Given the description of an element on the screen output the (x, y) to click on. 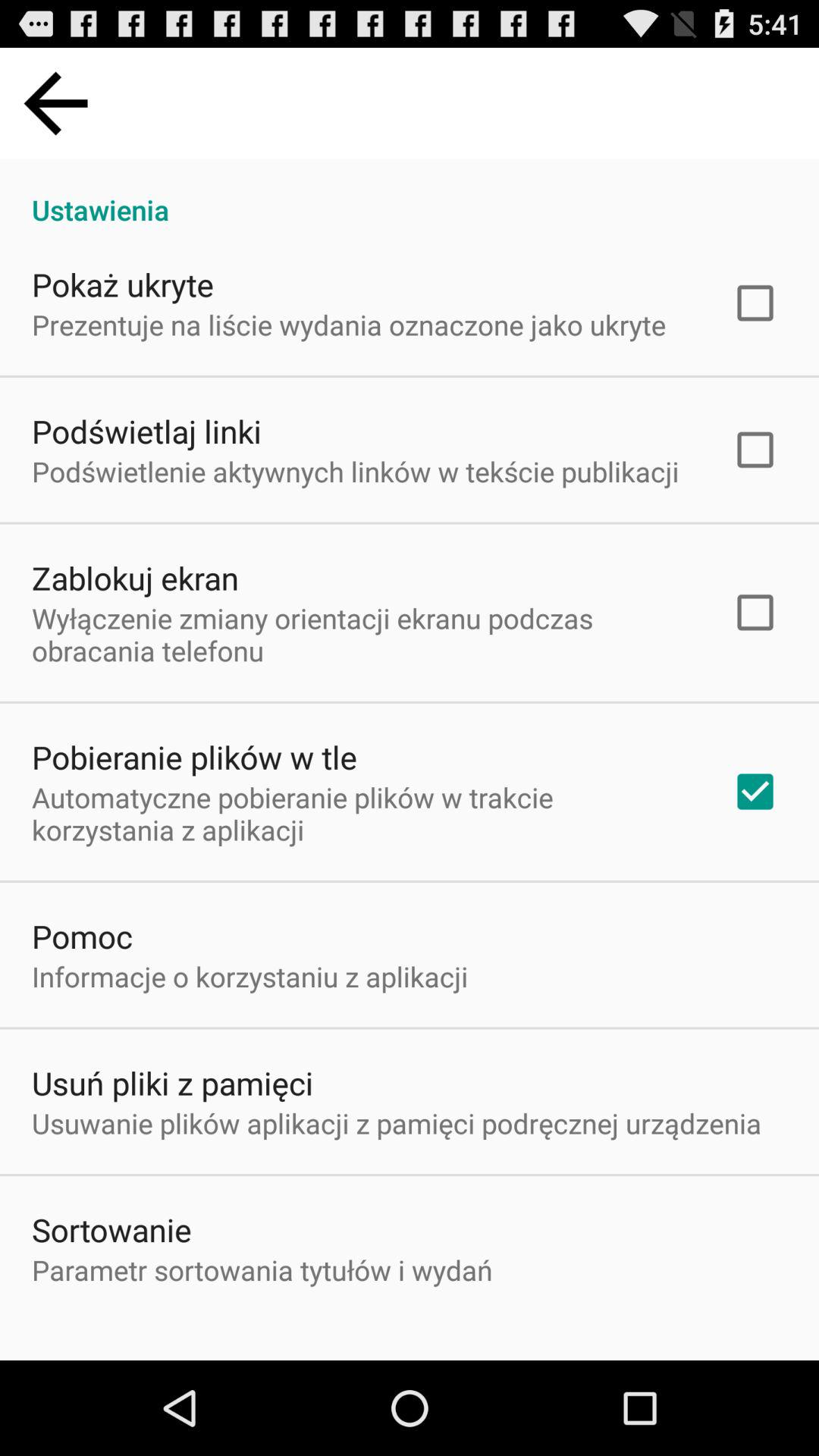
turn on zablokuj ekran icon (134, 577)
